Given the description of an element on the screen output the (x, y) to click on. 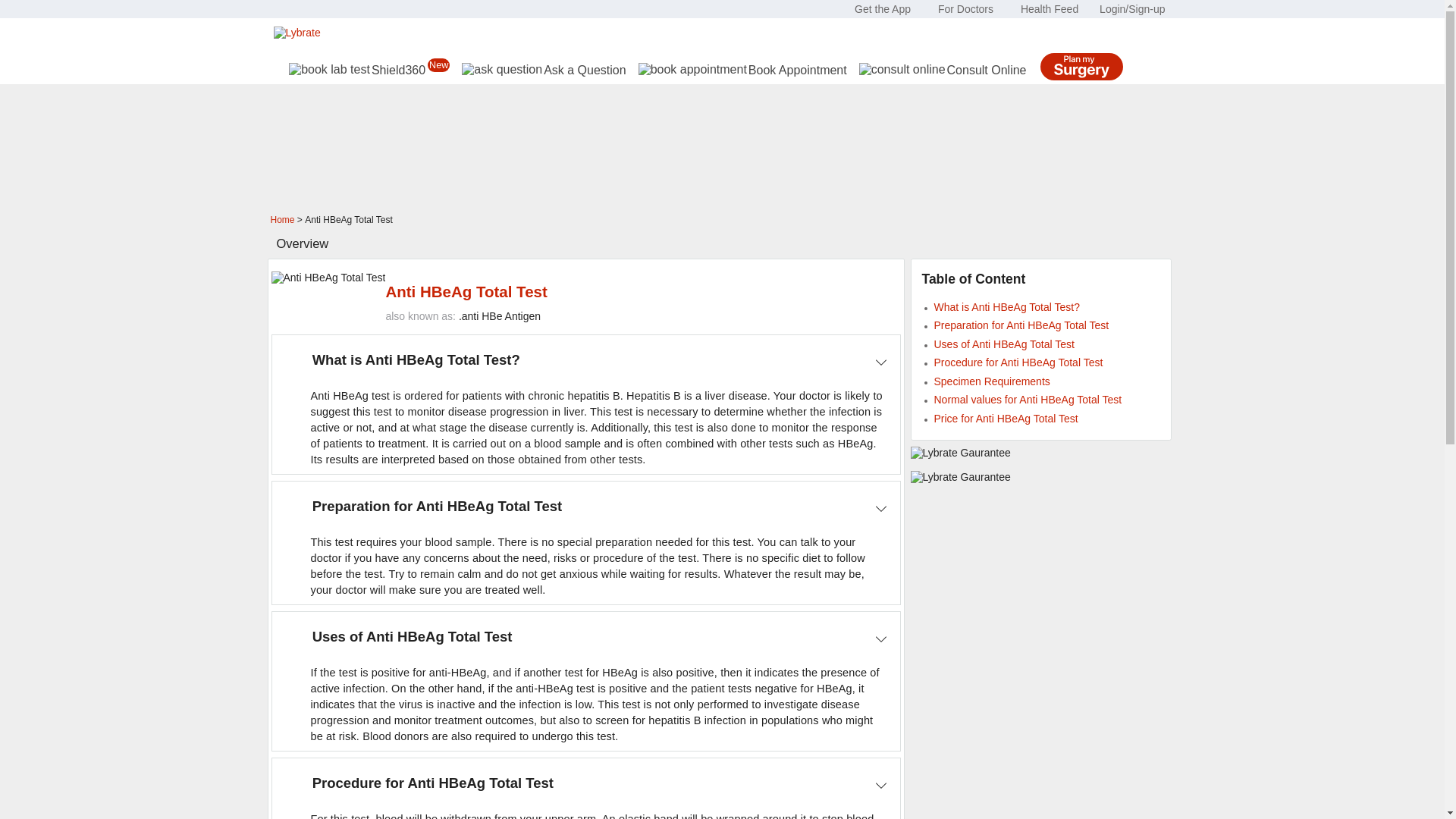
Health Feed (1049, 9)
Download Lybrate App (883, 9)
For Doctors (966, 9)
Ask a Question (543, 70)
Get the App (883, 9)
Home (281, 219)
Consult Online (942, 70)
